Given the description of an element on the screen output the (x, y) to click on. 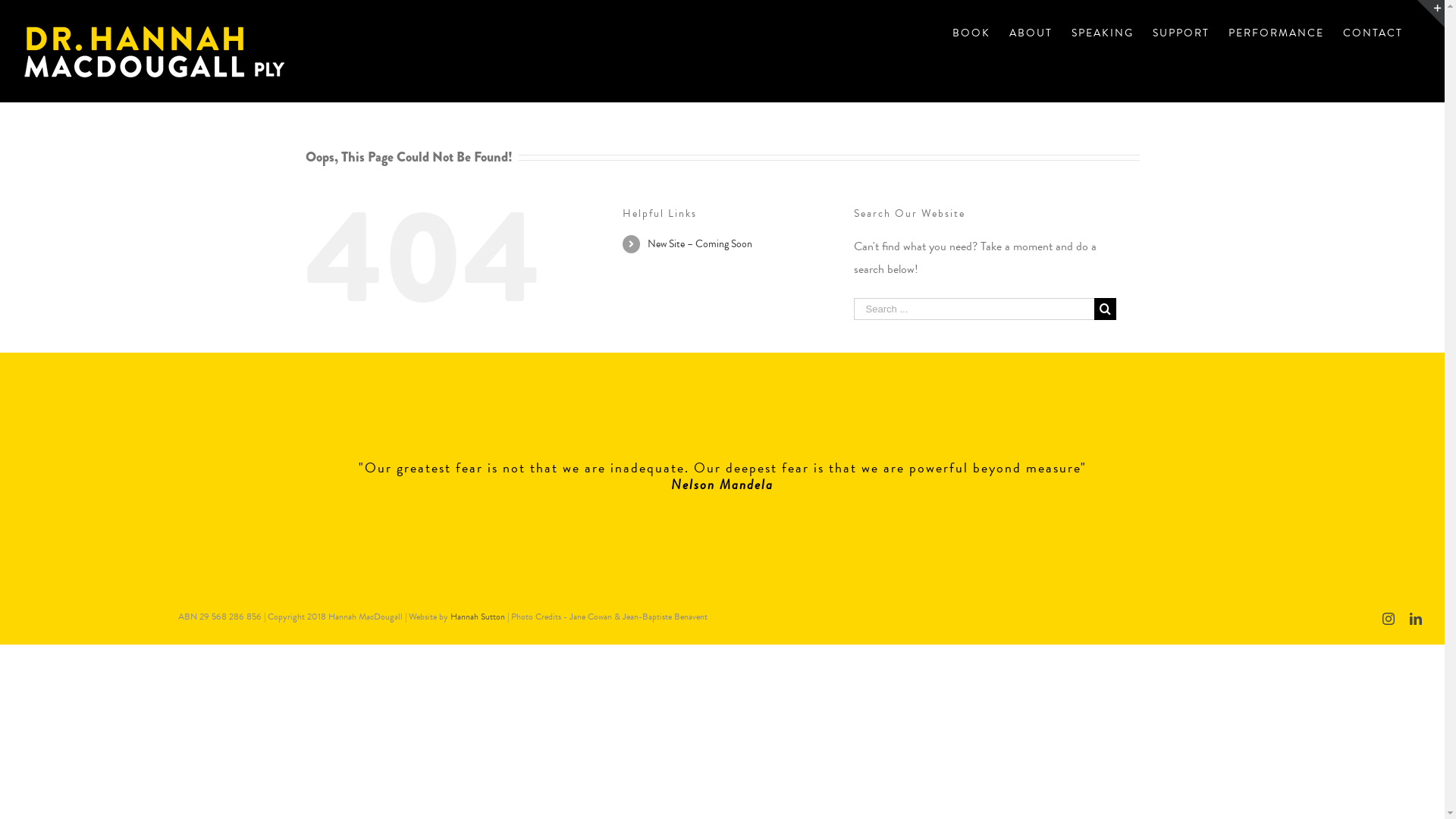
Instagram Element type: text (1388, 618)
PERFORMANCE Element type: text (1276, 31)
Hannah Sutton Element type: text (477, 616)
SUPPORT Element type: text (1180, 31)
ABOUT Element type: text (1030, 31)
Toggle Sliding Bar Area Element type: text (1430, 13)
LinkedIn Element type: text (1415, 618)
CONTACT Element type: text (1372, 31)
SPEAKING Element type: text (1102, 31)
BOOK Element type: text (971, 31)
